Given the description of an element on the screen output the (x, y) to click on. 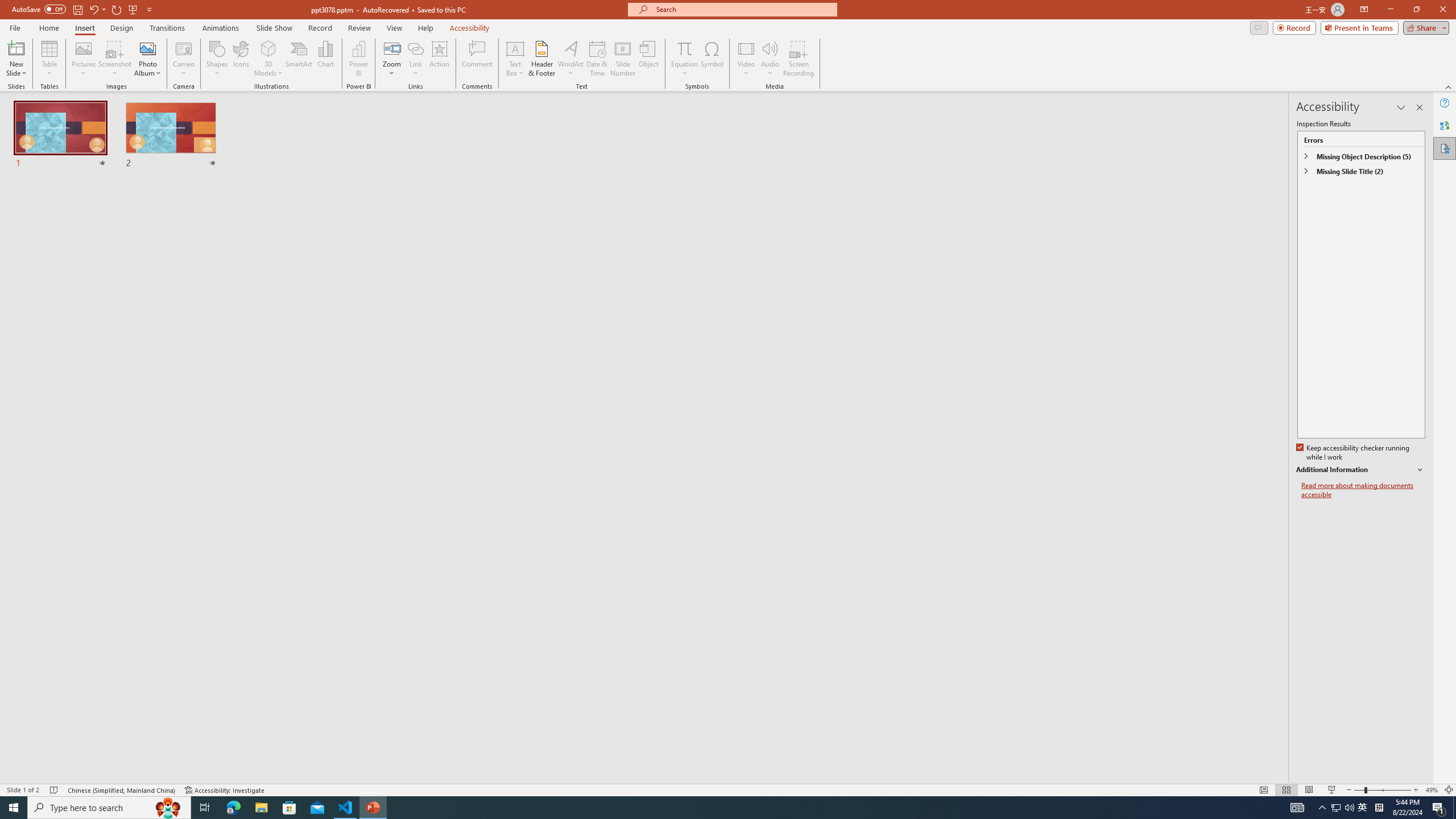
Link (415, 58)
Object... (649, 58)
Read more about making documents accessible (1363, 489)
3D Models (268, 48)
Keep accessibility checker running while I work (1353, 452)
Text Box (515, 58)
